Given the description of an element on the screen output the (x, y) to click on. 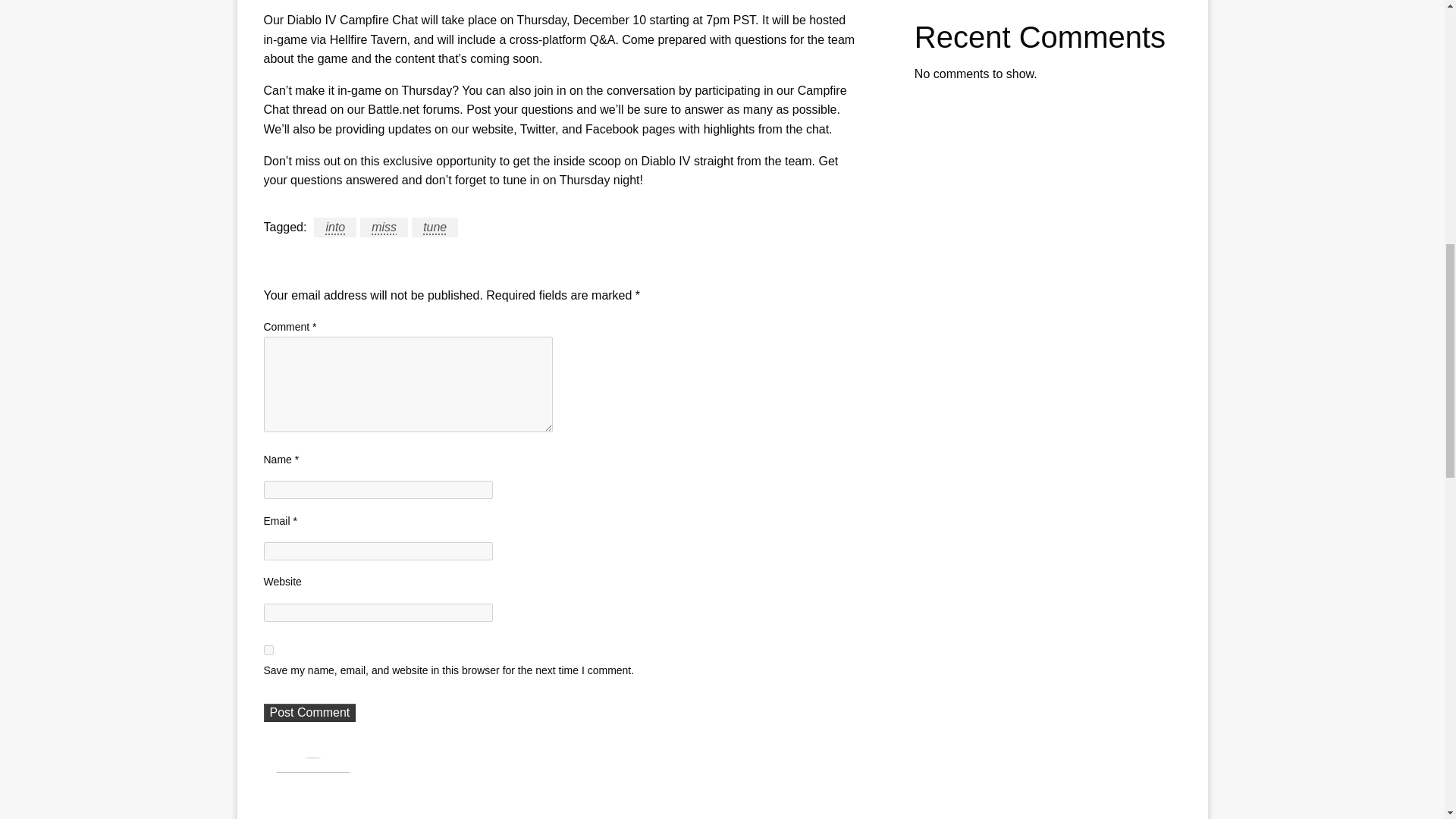
Post Comment (309, 712)
tune (435, 227)
into (335, 227)
yes (268, 650)
miss (383, 227)
Post Comment (309, 712)
